Given the description of an element on the screen output the (x, y) to click on. 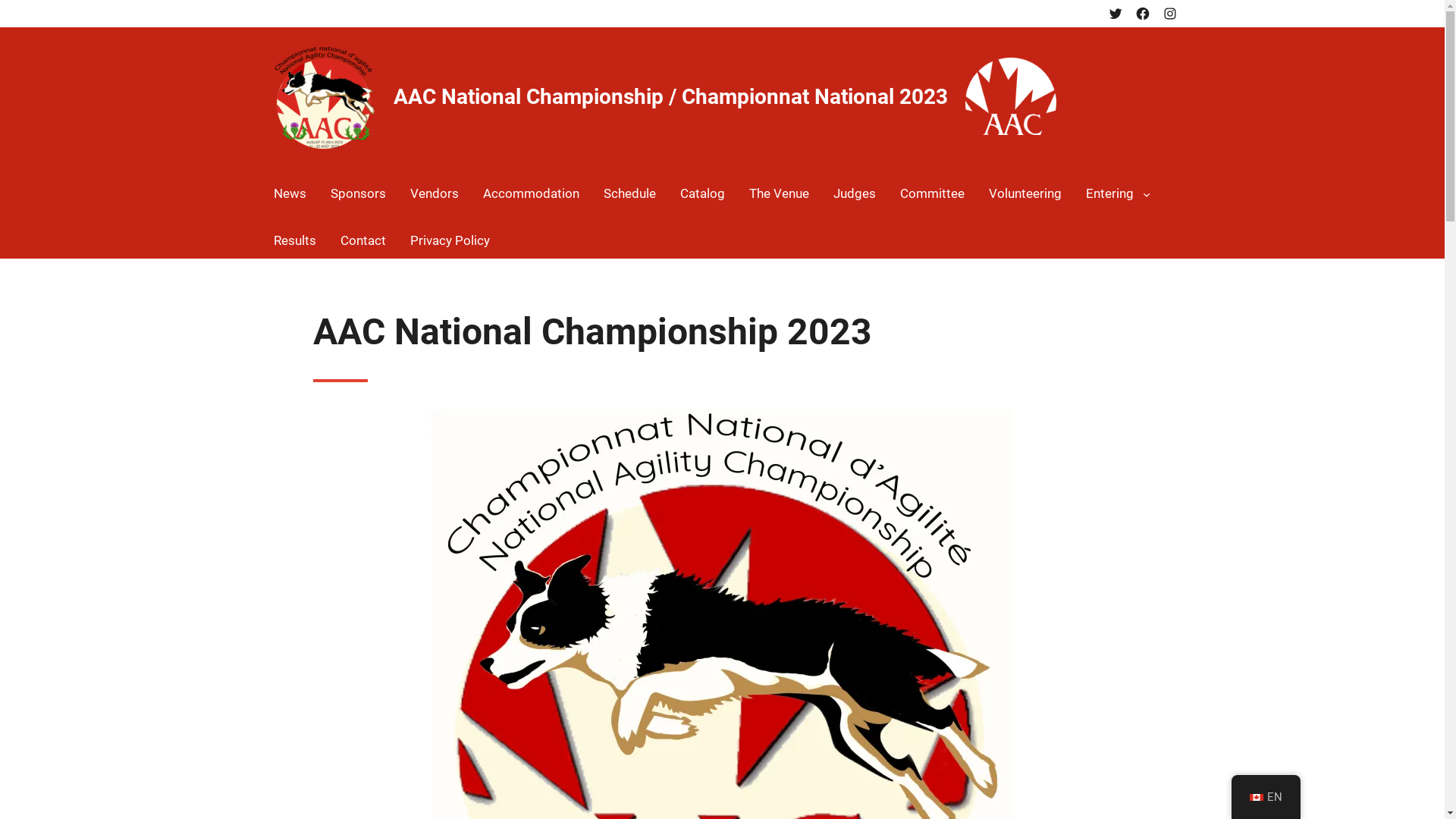
Instagram Element type: text (1168, 13)
Twitter Element type: text (1114, 13)
Committee Element type: text (931, 193)
Sponsors Element type: text (358, 193)
Facebook Element type: text (1141, 13)
Accommodation Element type: text (530, 193)
Privacy Policy Element type: text (449, 240)
Contact Element type: text (362, 240)
Results Element type: text (293, 240)
News Element type: text (288, 193)
Vendors Element type: text (433, 193)
AAC National Championship / Championnat National 2023 Element type: text (669, 95)
The Venue Element type: text (779, 193)
Catalog Element type: text (701, 193)
English Element type: hover (1256, 796)
Judges Element type: text (853, 193)
Schedule Element type: text (629, 193)
Entering Element type: text (1109, 193)
EN Element type: text (1265, 797)
Volunteering Element type: text (1024, 193)
